Given the description of an element on the screen output the (x, y) to click on. 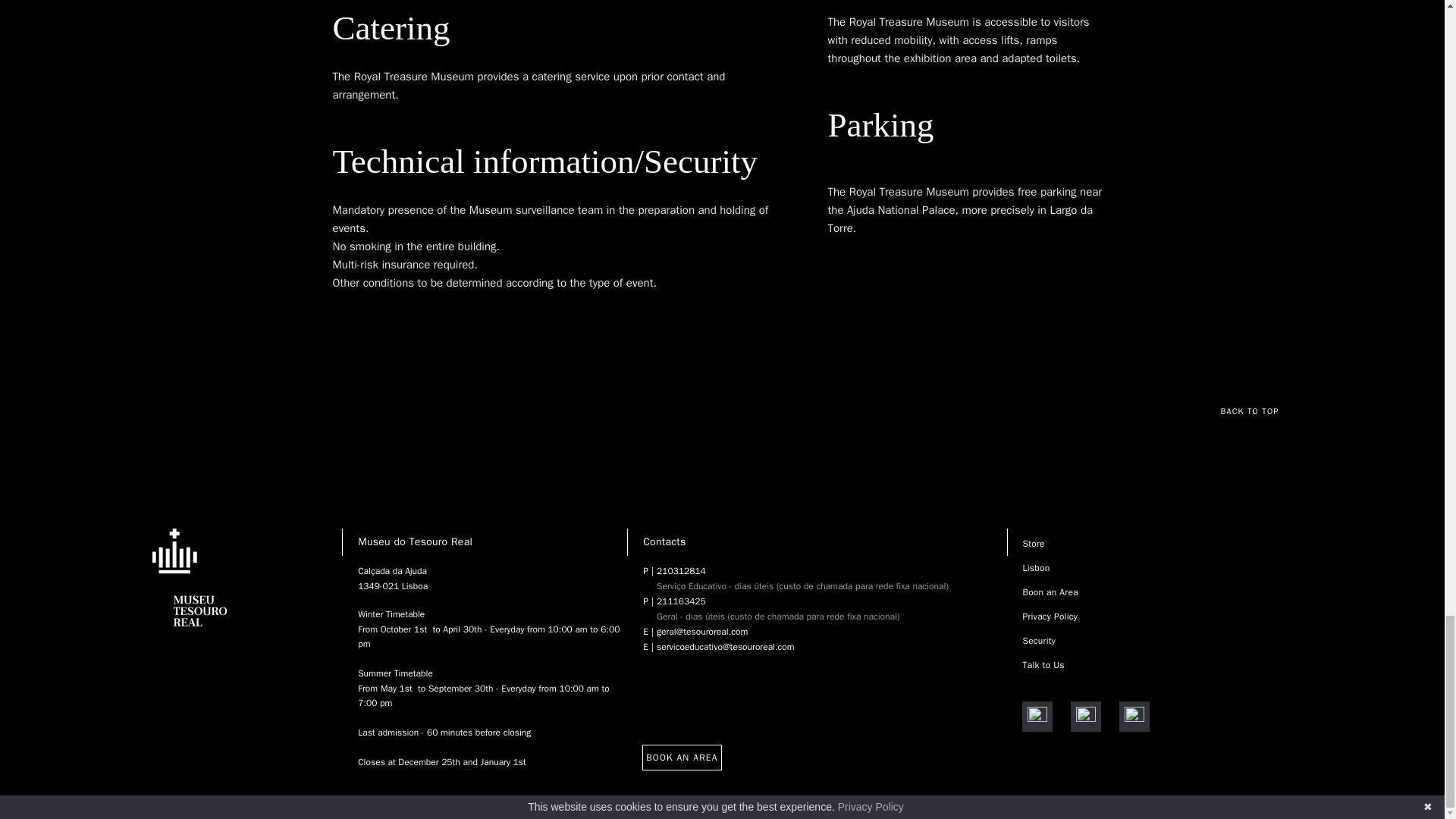
Talk to Us (1043, 664)
Security (1038, 640)
BACK TO TOP (1256, 410)
Privacy Policy (1049, 616)
210312814 (802, 571)
211163425 (777, 601)
Boon an Area (1049, 592)
Visit Facebook (1037, 716)
Store (1032, 543)
Lisbon (1035, 567)
